Given the description of an element on the screen output the (x, y) to click on. 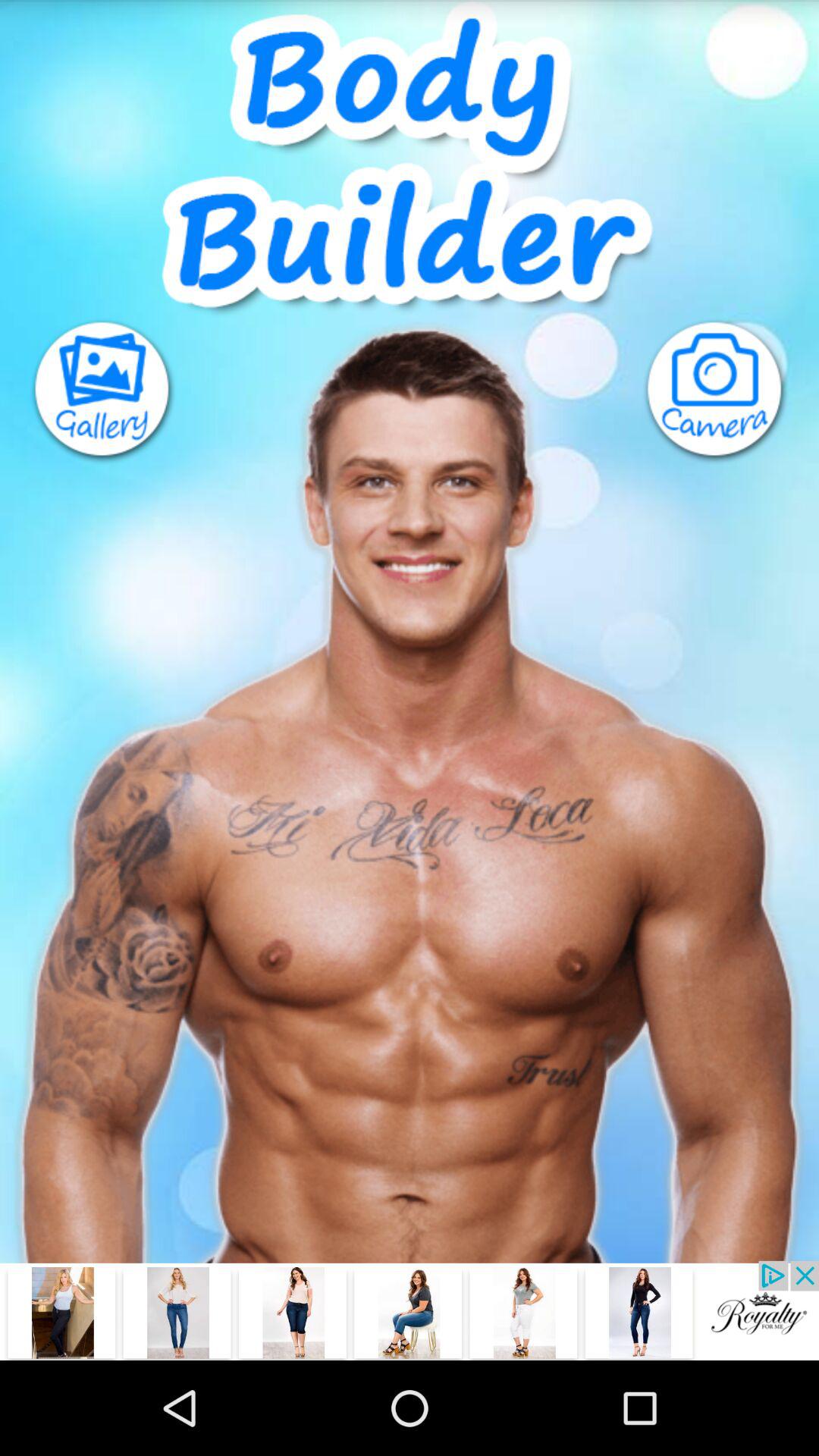
camera (730, 391)
